Given the description of an element on the screen output the (x, y) to click on. 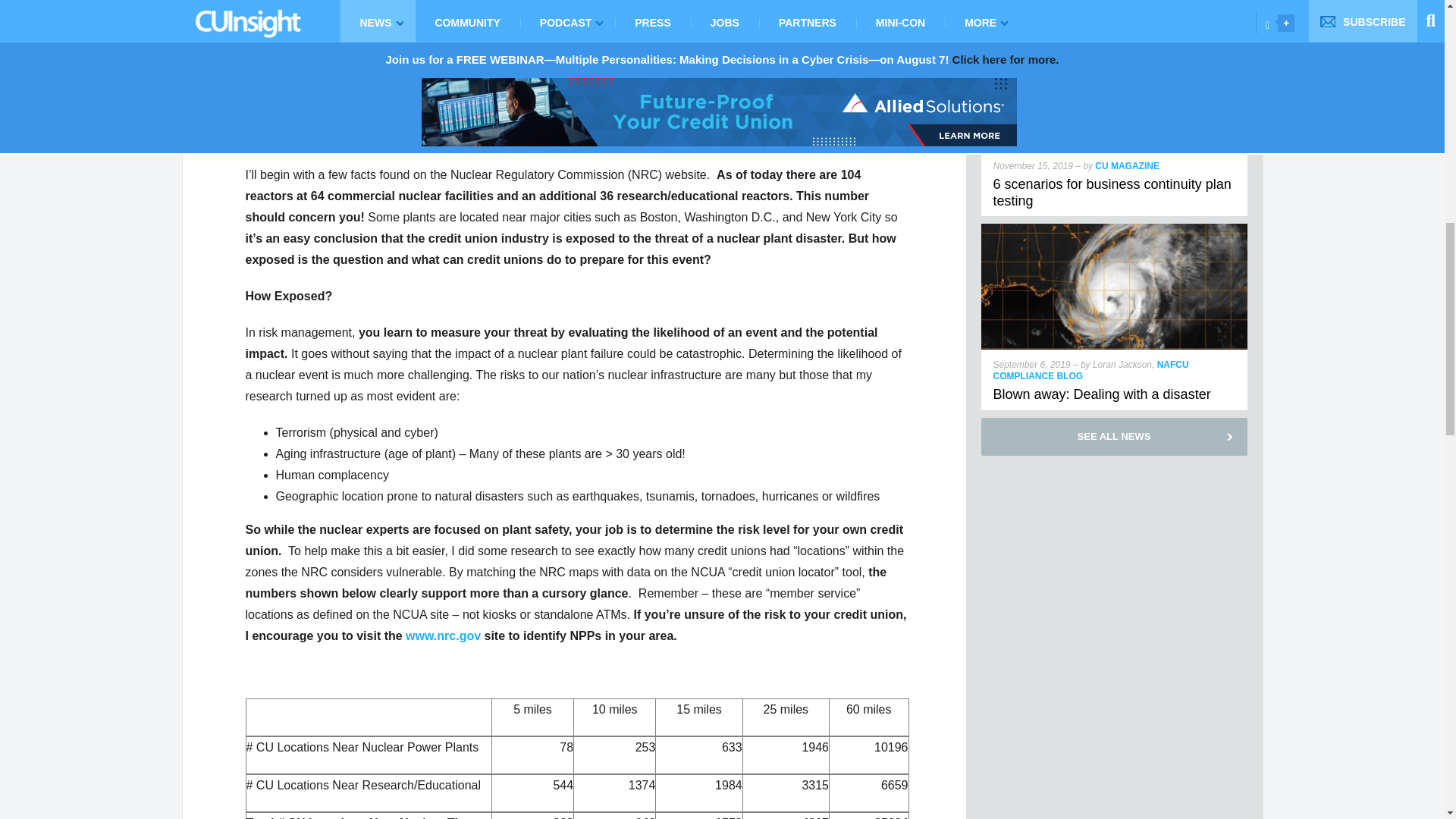
Blown away: Dealing with a disaster (1101, 394)
6 scenarios for business continuity plan testing (1111, 192)
Leveraging technology to enhance branch health and safety (1097, 5)
6 scenarios for business continuity plan testing (1114, 31)
Blown away: Dealing with a disaster (1114, 229)
